Given the description of an element on the screen output the (x, y) to click on. 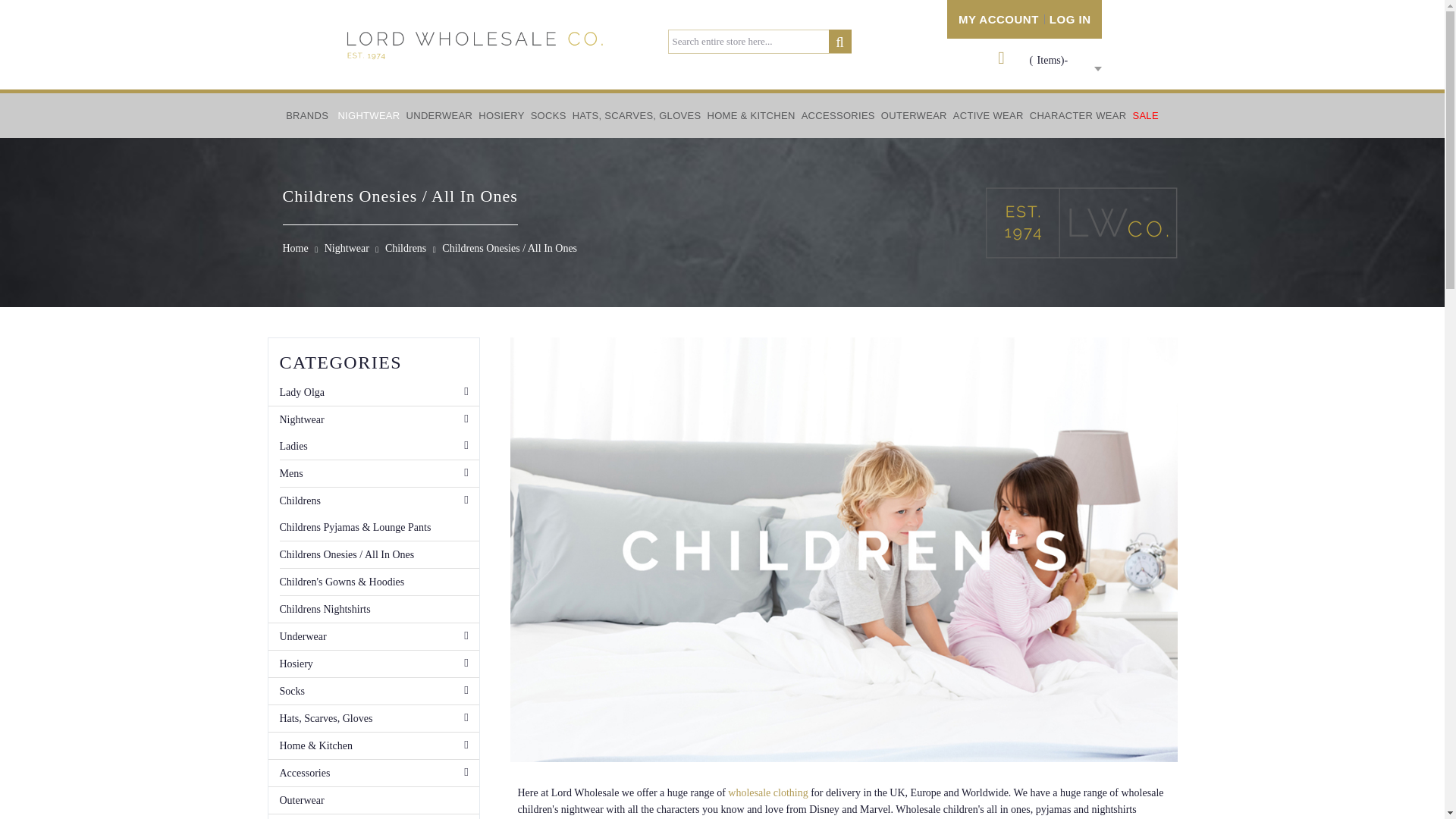
Search (835, 44)
Wholesale Clothing UK (768, 792)
Go to Home Page (294, 247)
BRANDS (306, 115)
LOG IN (1069, 19)
MY ACCOUNT (998, 19)
